Given the description of an element on the screen output the (x, y) to click on. 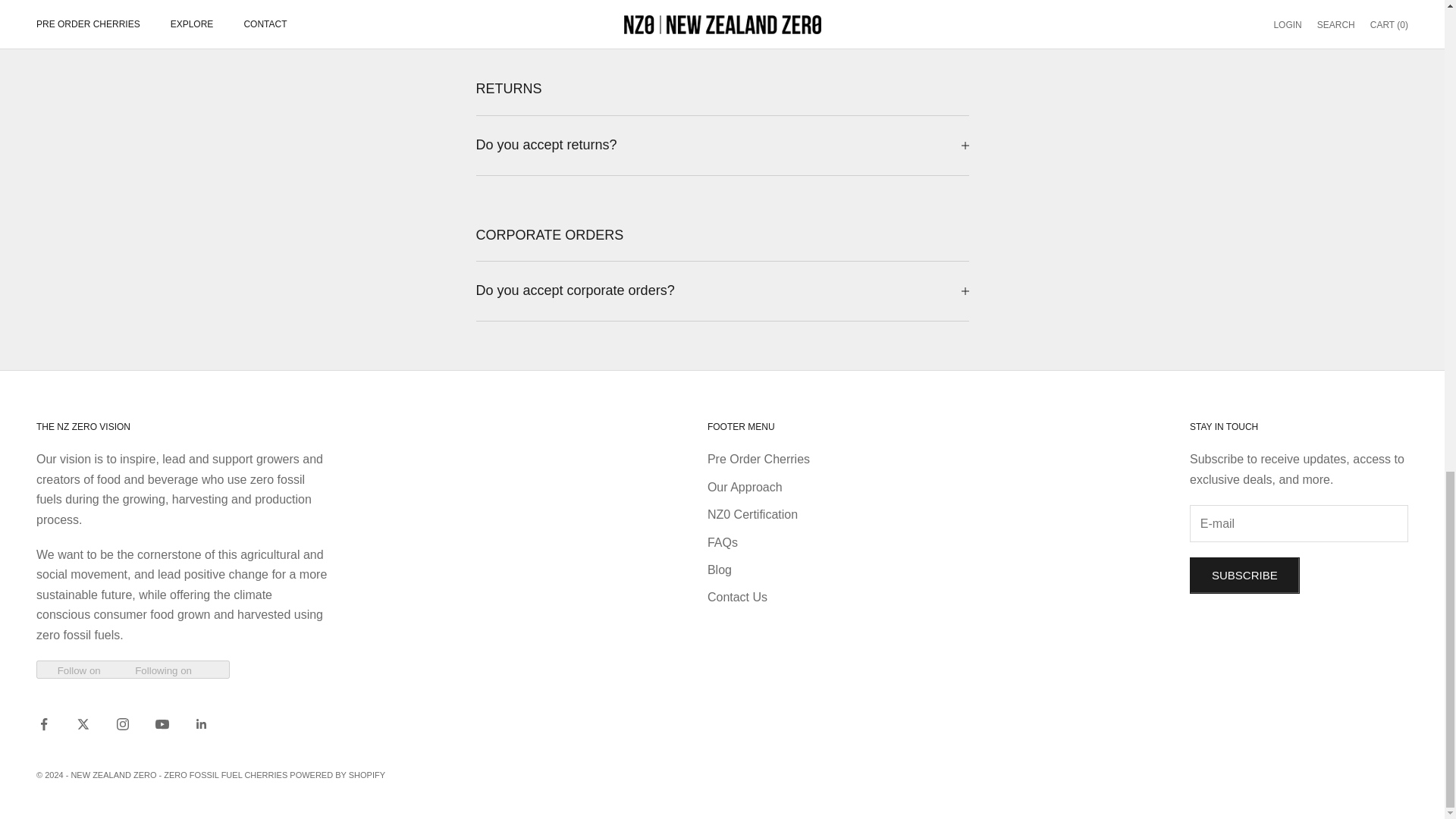
Pre Order Cherries (758, 459)
POWERED BY SHOPIFY (337, 774)
Contact Us (737, 596)
SUBSCRIBE (1244, 575)
NZ0 Certification (752, 513)
FAQs (722, 542)
Blog (719, 569)
Our Approach (745, 486)
